Given the description of an element on the screen output the (x, y) to click on. 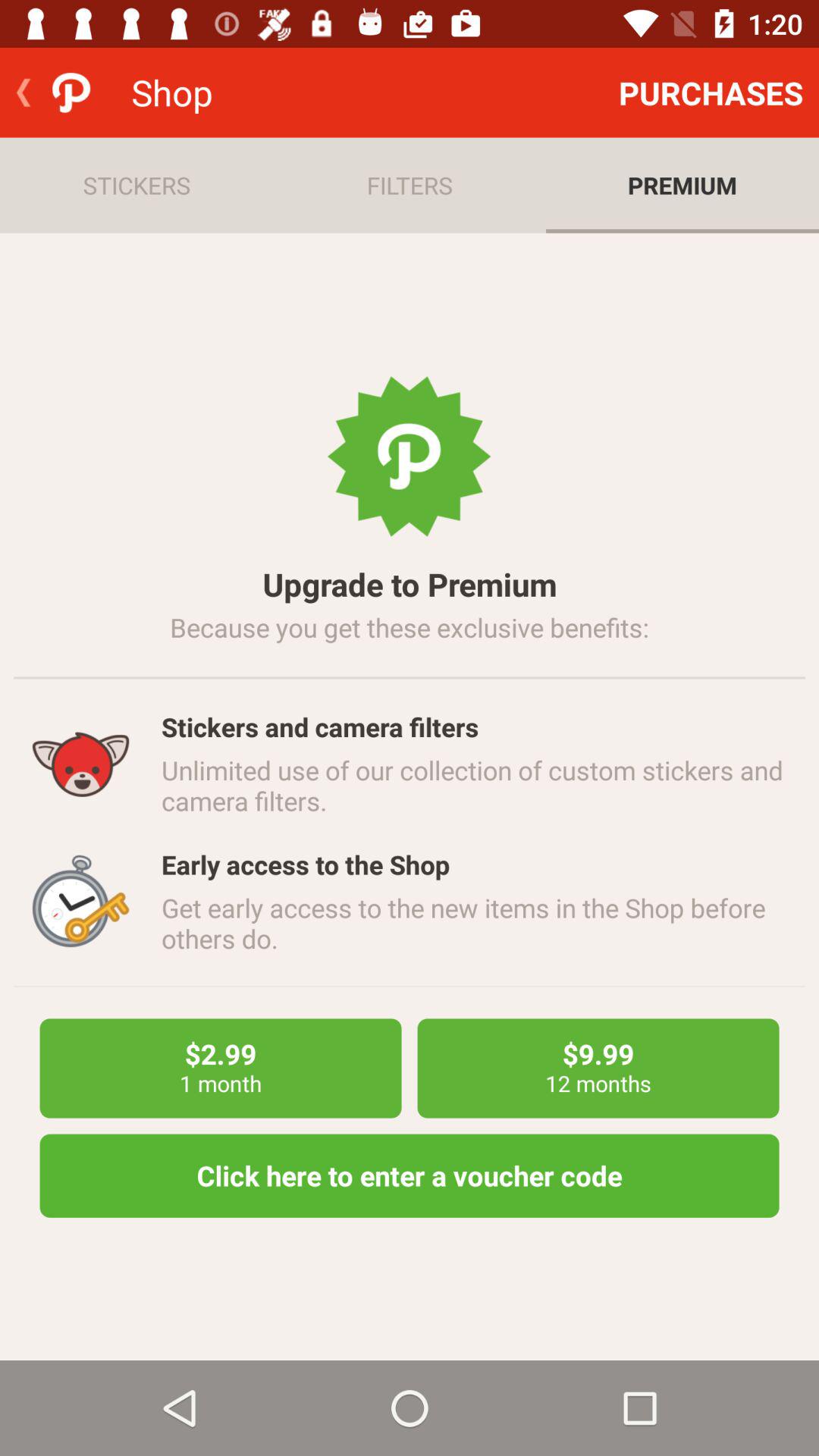
scroll until click here to (409, 1175)
